Given the description of an element on the screen output the (x, y) to click on. 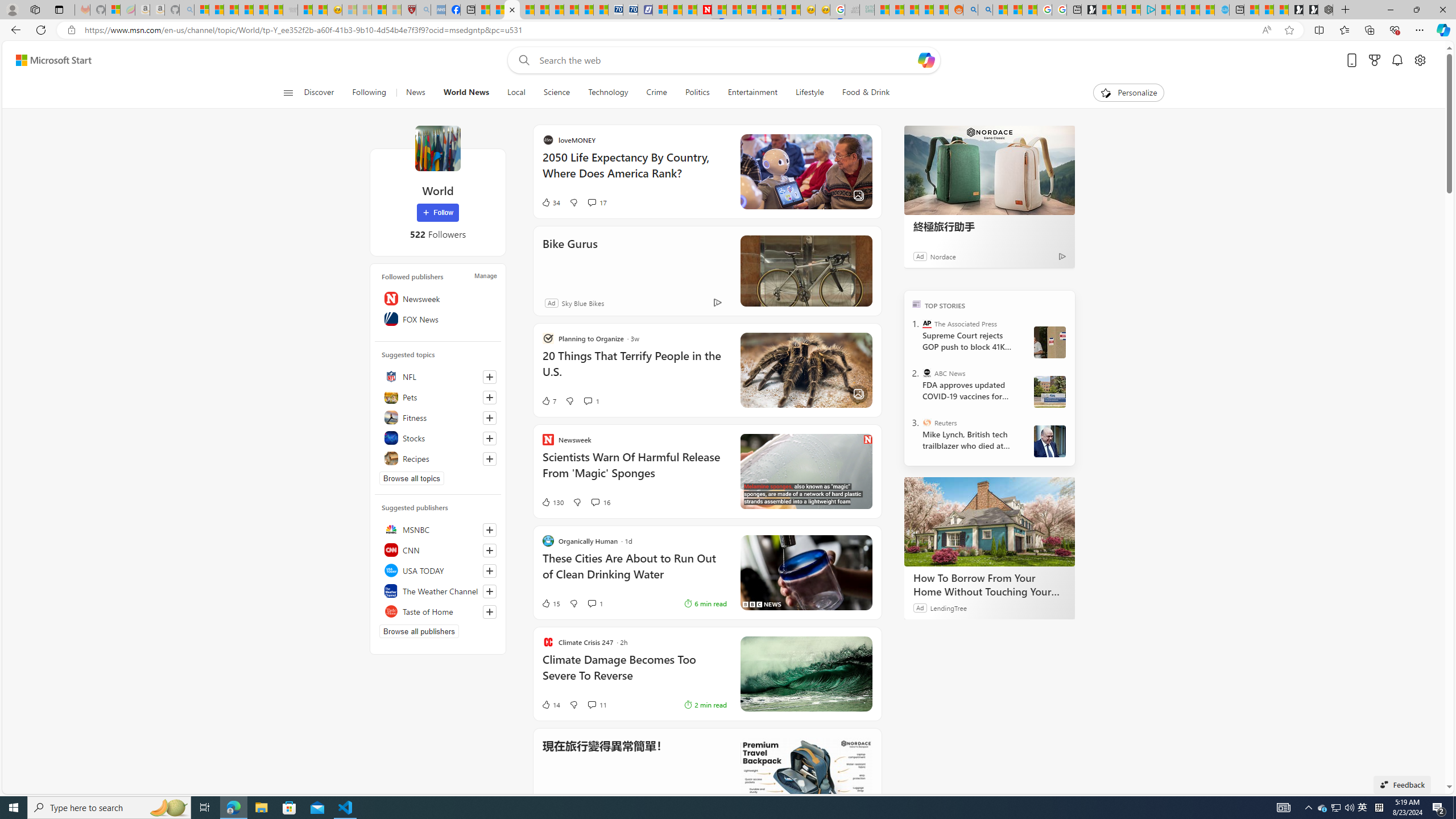
Recipes (437, 458)
Utah sues federal government - Search (984, 9)
These Cities Are About to Run Out of Clean Drinking Water (805, 572)
Taste of Home (437, 610)
